Given the description of an element on the screen output the (x, y) to click on. 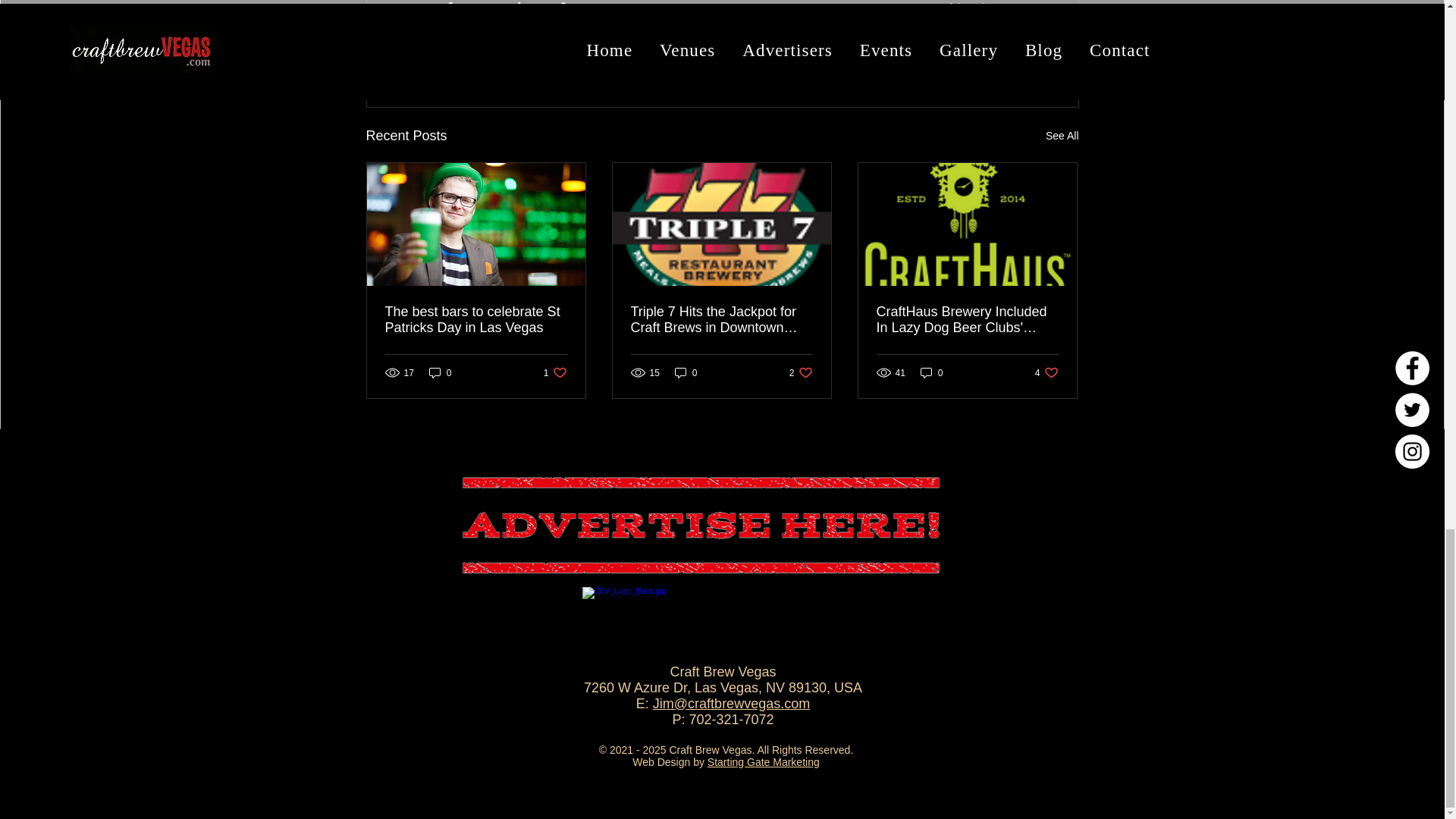
The best bars to celebrate St Patricks Day in Las Vegas (476, 319)
0 (555, 372)
craft beer bars (990, 52)
See All (440, 372)
